Given the description of an element on the screen output the (x, y) to click on. 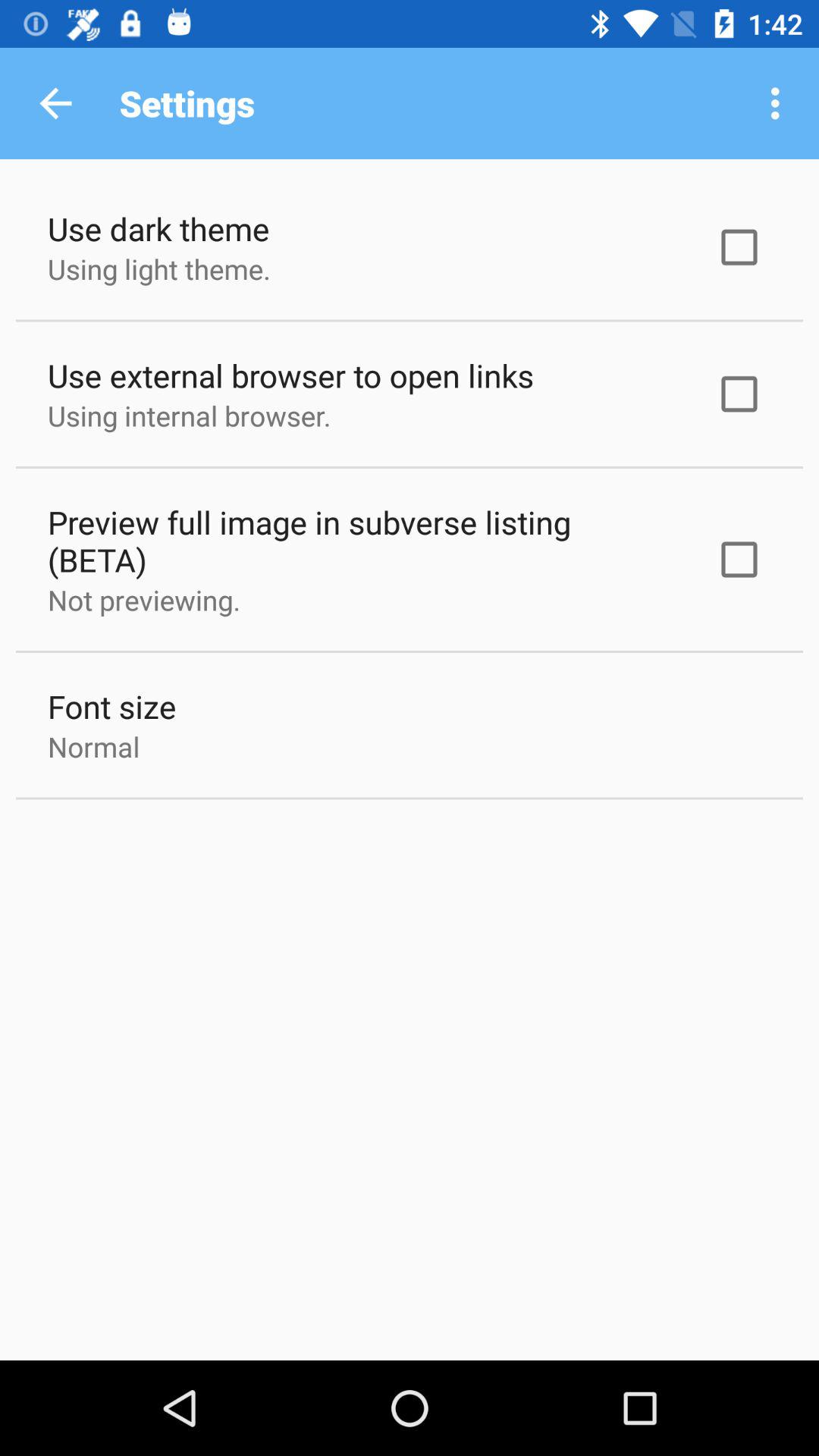
select the use dark theme item (158, 228)
